Given the description of an element on the screen output the (x, y) to click on. 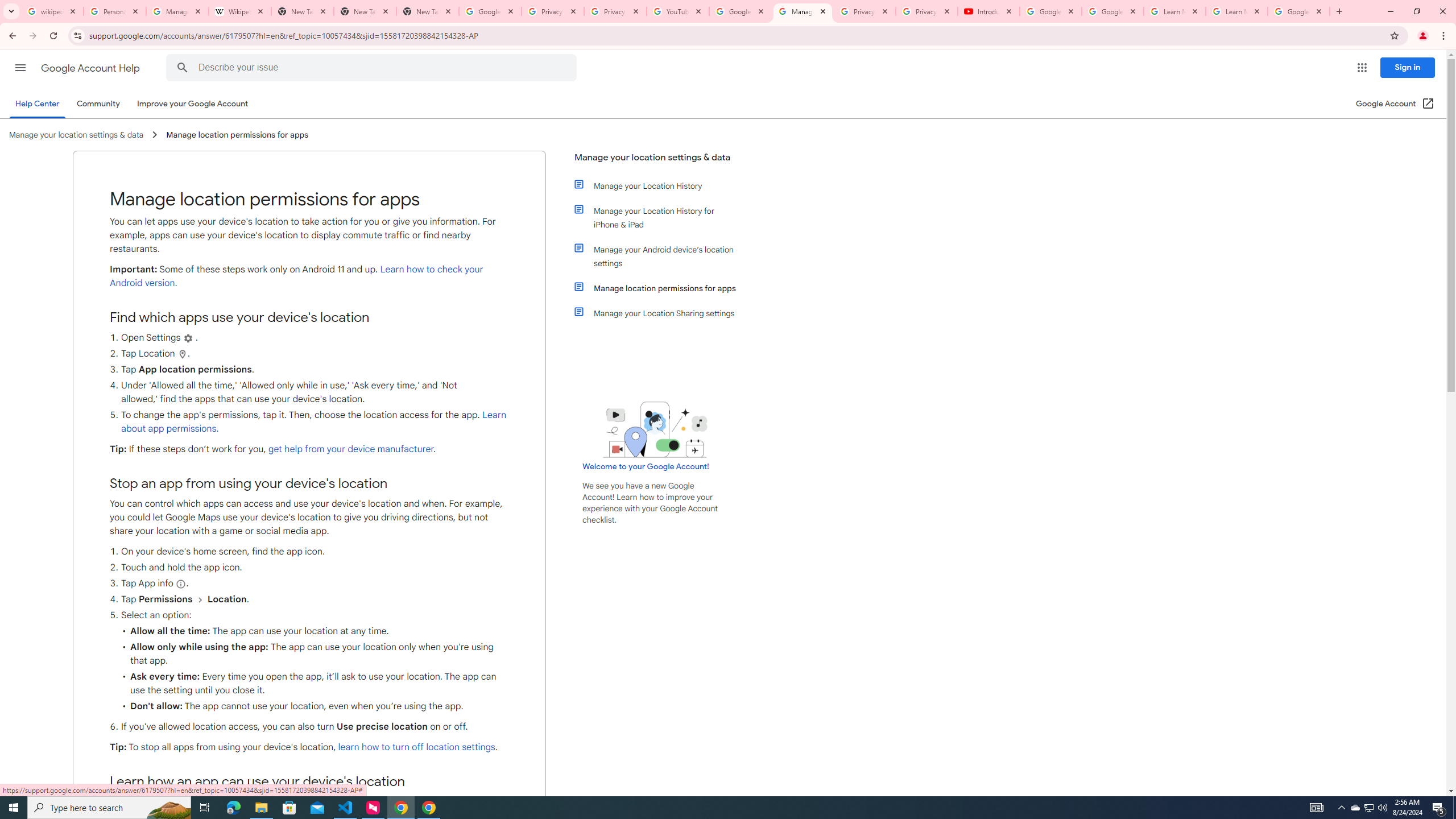
Manage your Location History - Google Search Help (177, 11)
Google Account (1298, 11)
Manage your Location Sharing settings (661, 312)
Learn about app permissions. (313, 421)
Describe your issue (373, 67)
Manage location permissions for apps - Google Account Help (802, 11)
